Given the description of an element on the screen output the (x, y) to click on. 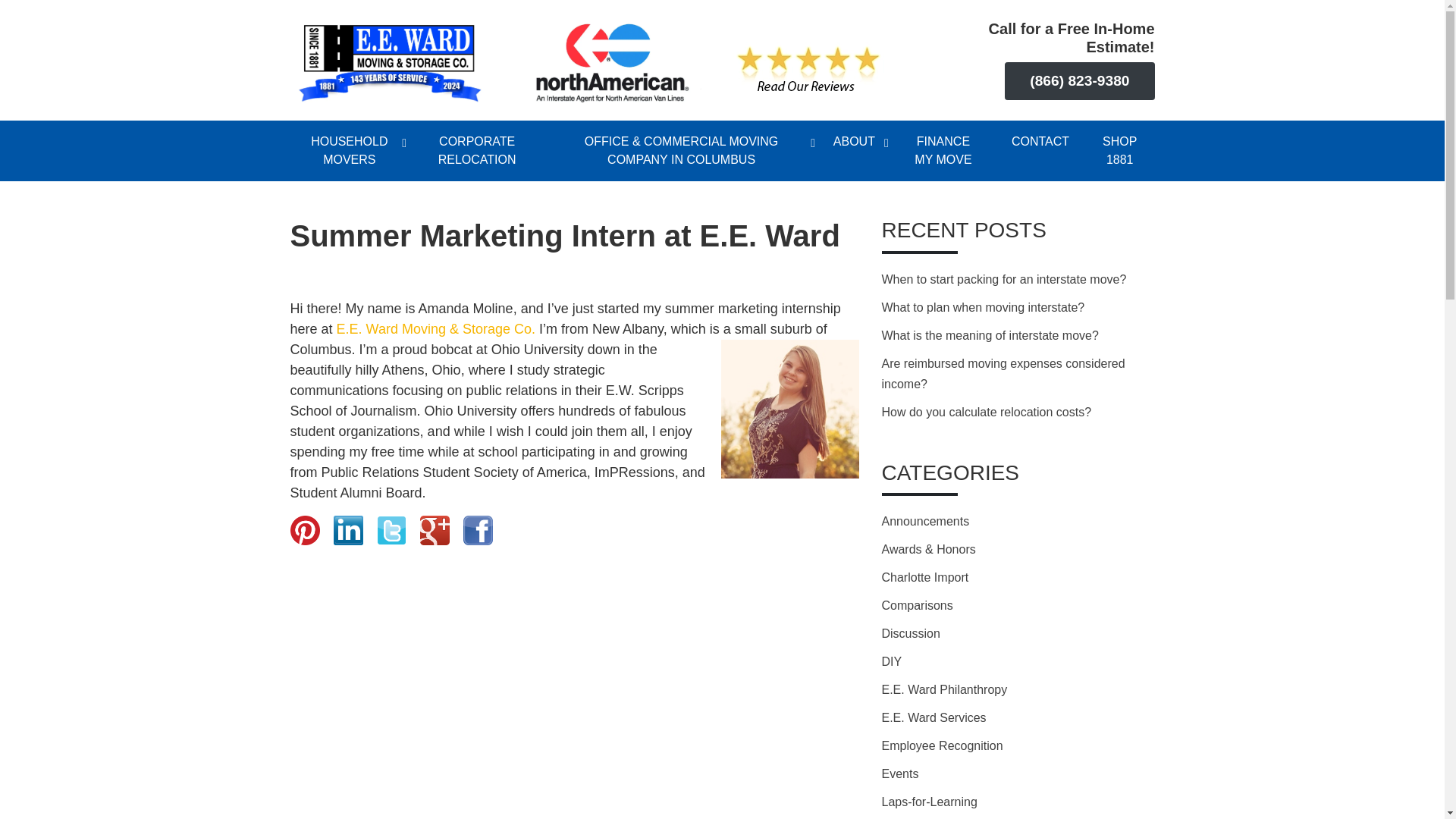
When to start packing for an interstate move? (1002, 278)
What to plan when moving interstate? (982, 307)
CORPORATE RELOCATION (476, 150)
SHOP 1881 (1119, 150)
ABOUT (853, 141)
FINANCE MY MOVE (943, 150)
HOUSEHOLD MOVERS (349, 150)
CONTACT (1039, 141)
